Given the description of an element on the screen output the (x, y) to click on. 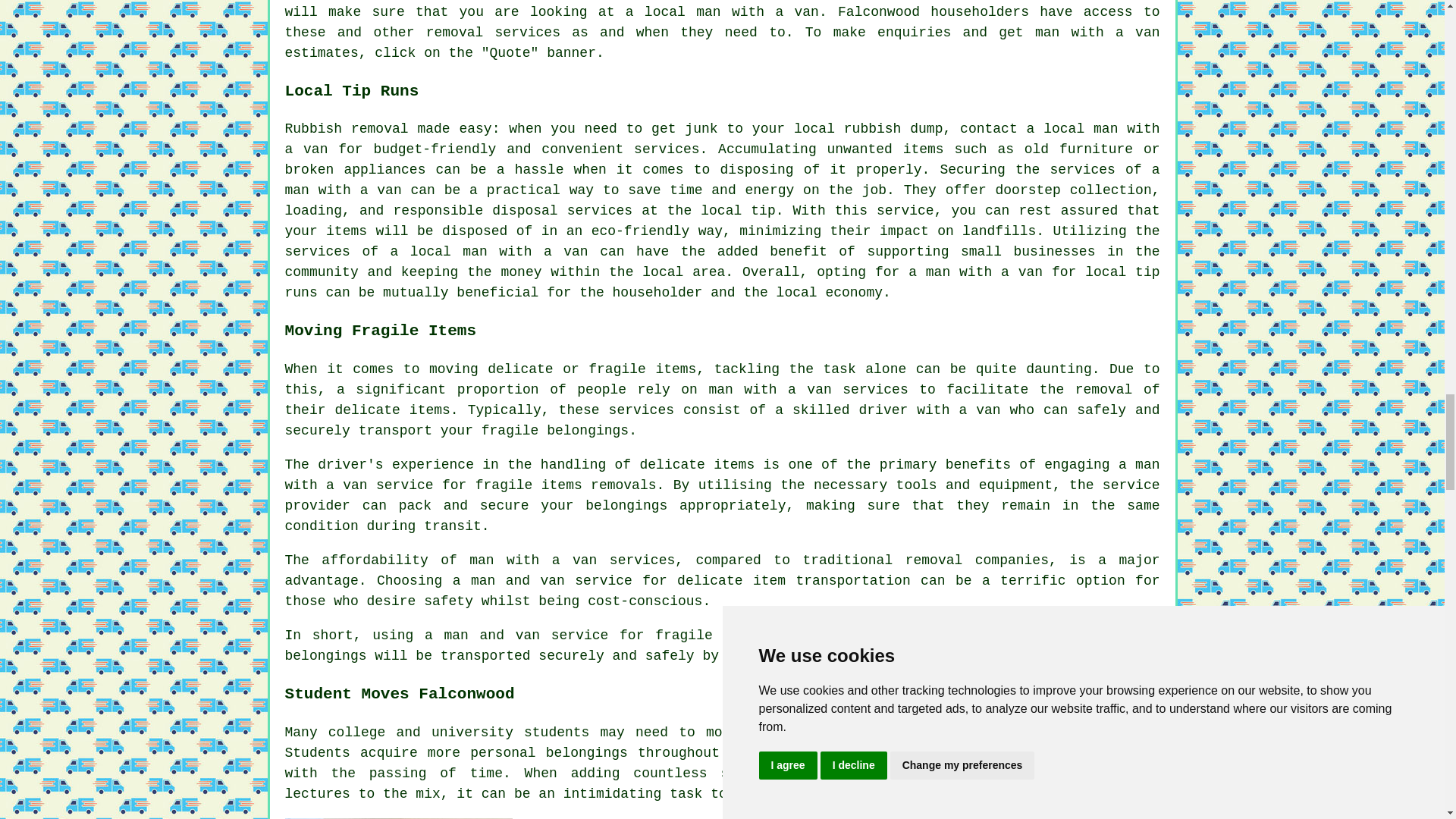
local man with a van (499, 251)
removal companies (976, 560)
man with a van services (807, 389)
man with a van (756, 11)
